Given the description of an element on the screen output the (x, y) to click on. 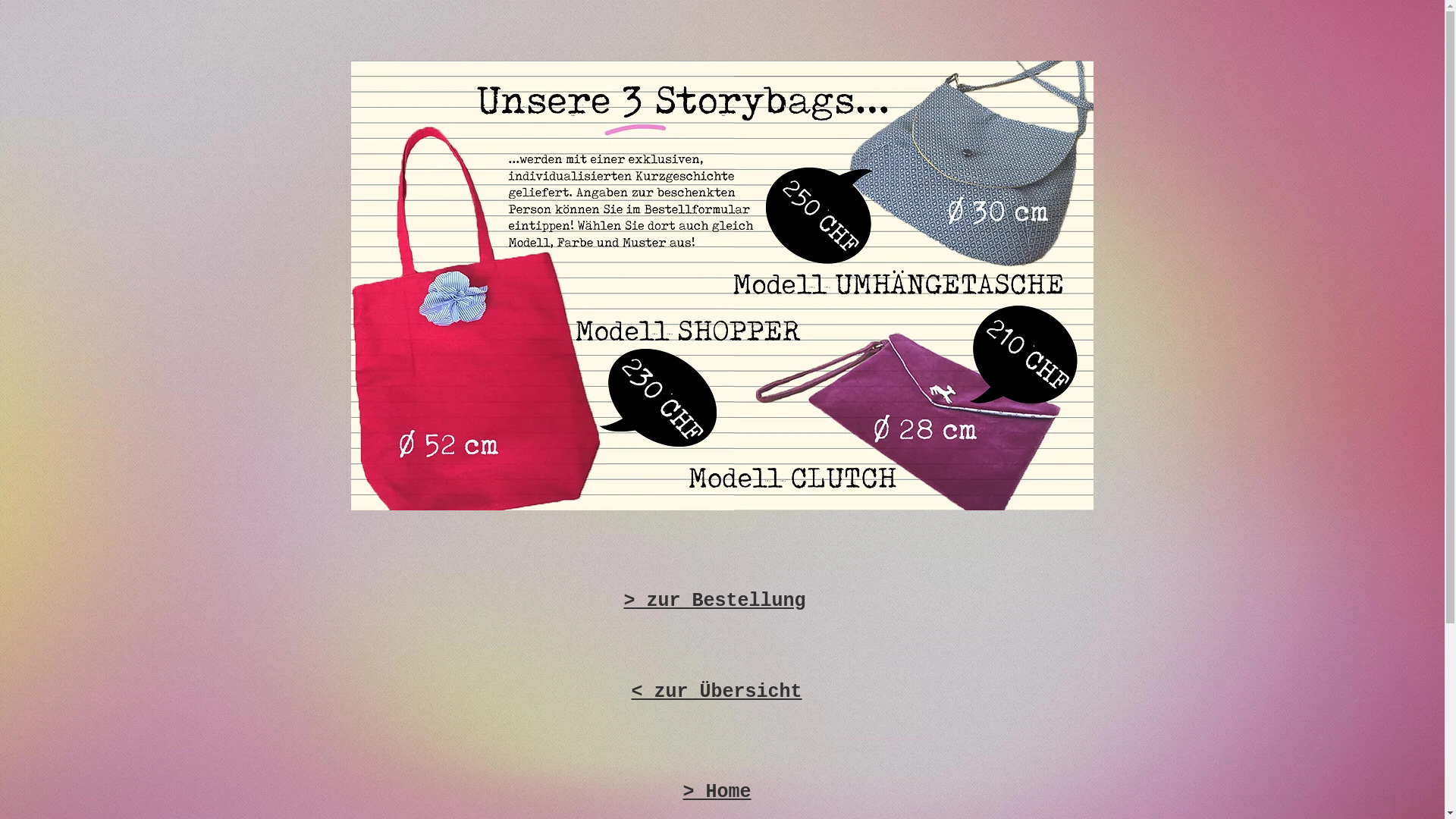
> Home Element type: text (716, 768)
> zur Bestellung Element type: text (714, 577)
